Given the description of an element on the screen output the (x, y) to click on. 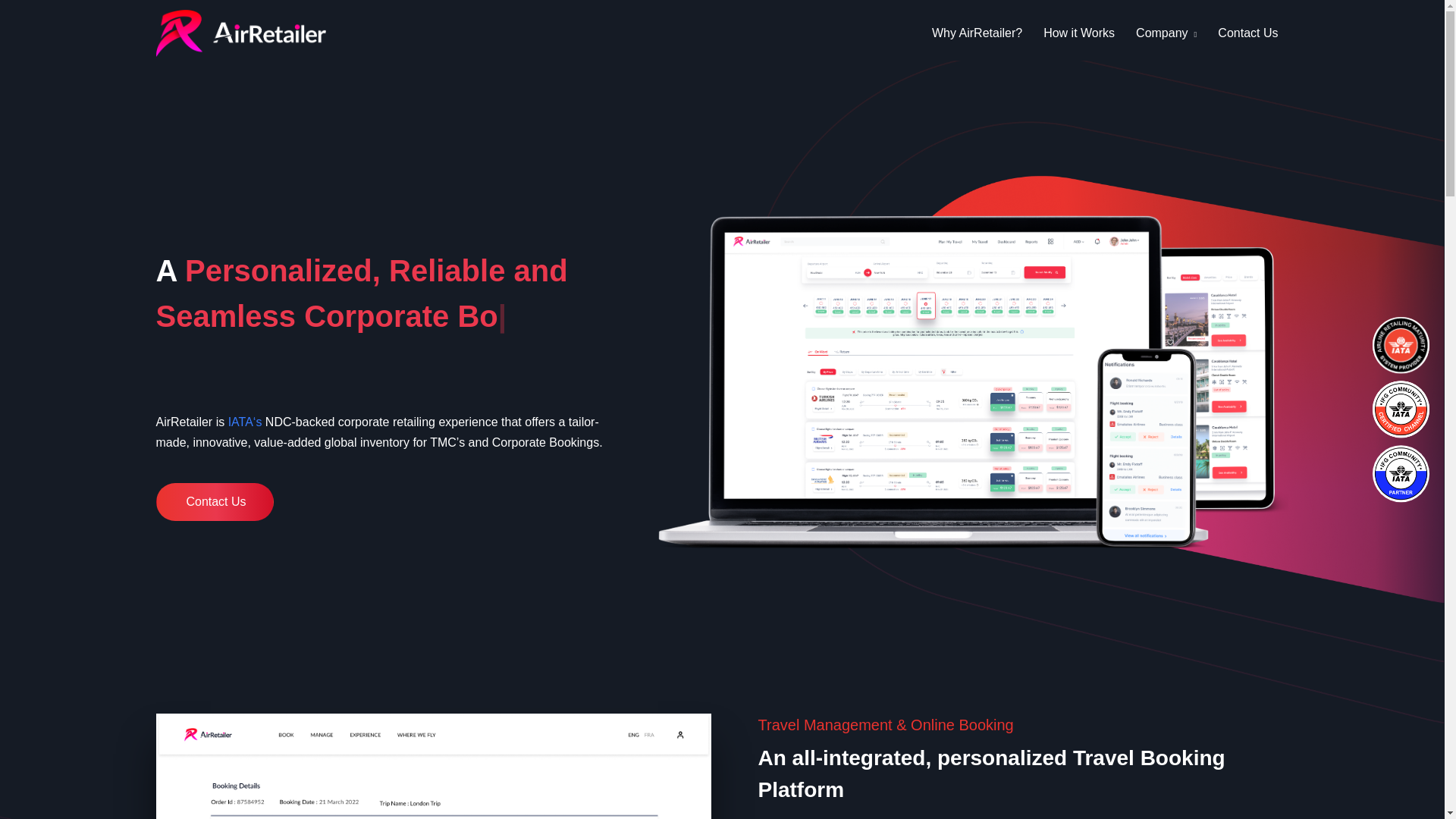
How it Works (1078, 32)
Company (1166, 32)
Contact Us (1247, 32)
Why AirRetailer? (981, 32)
Contact Us (1247, 32)
Company (1166, 32)
Contact Us (214, 501)
Why AirRetailer? (981, 32)
How it Works (1078, 32)
